Given the description of an element on the screen output the (x, y) to click on. 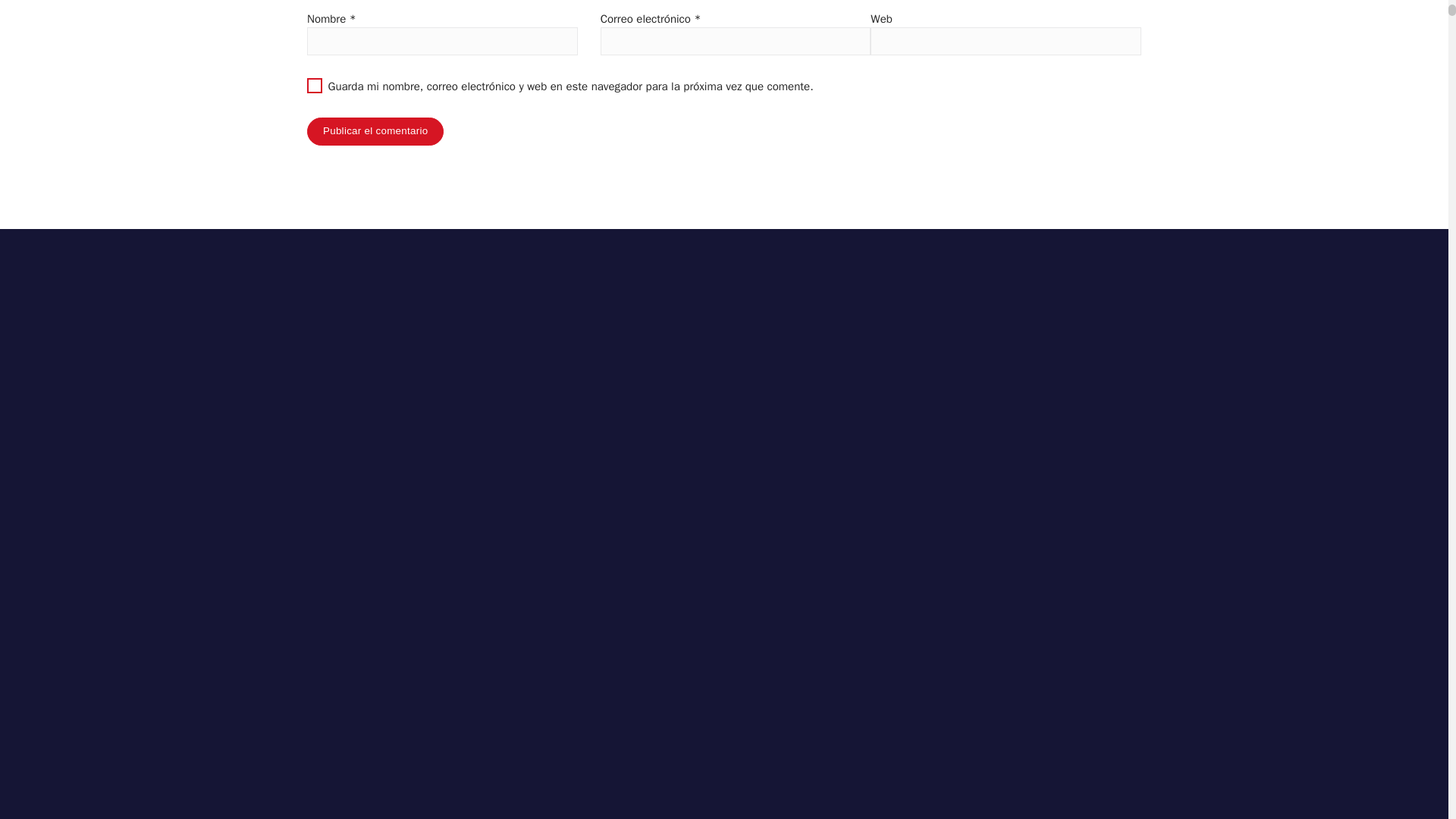
yes (314, 85)
Publicar el comentario (375, 131)
Publicar el comentario (375, 131)
